Given the description of an element on the screen output the (x, y) to click on. 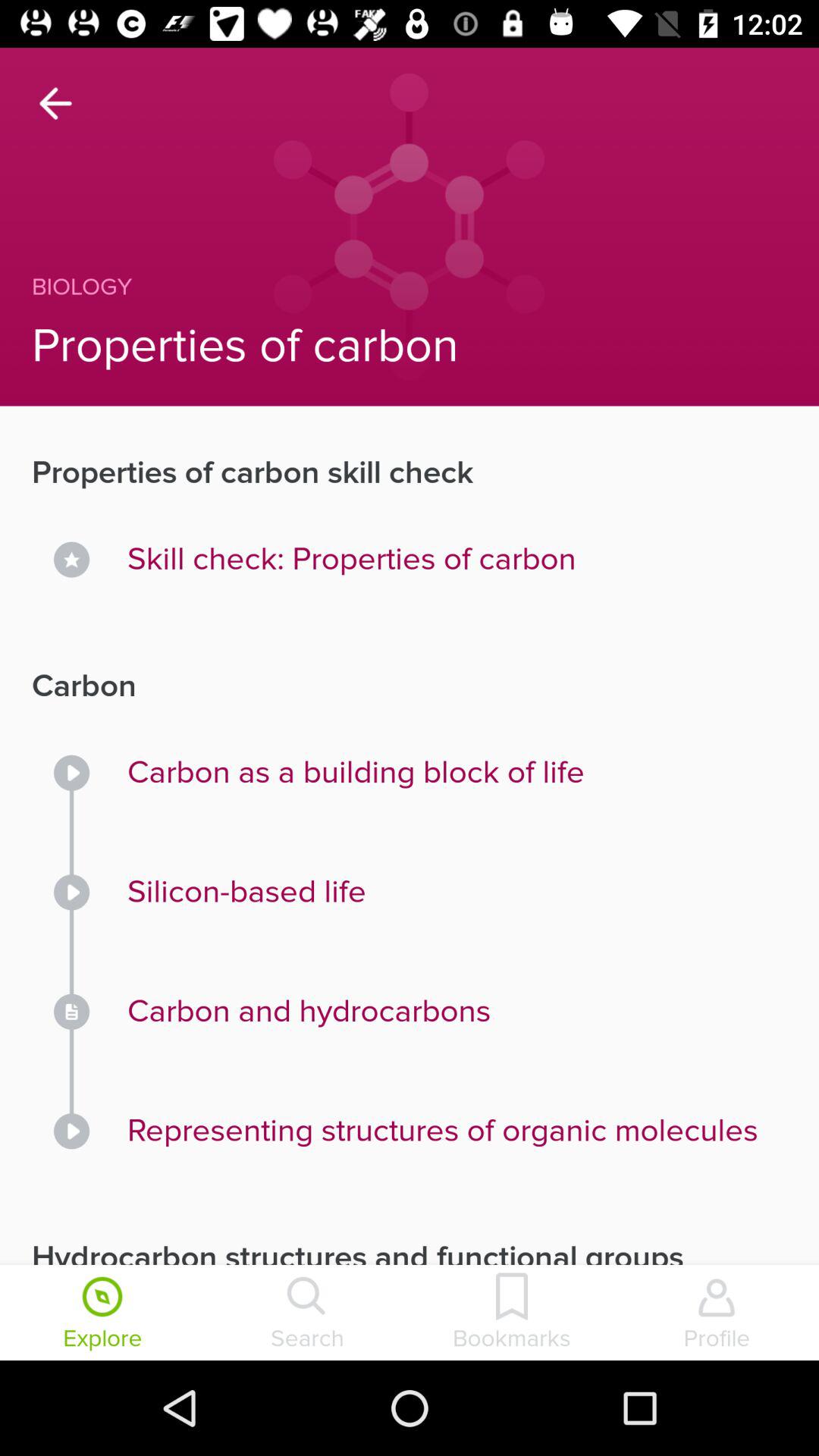
turn on item below hydrocarbon structures and item (306, 1314)
